Given the description of an element on the screen output the (x, y) to click on. 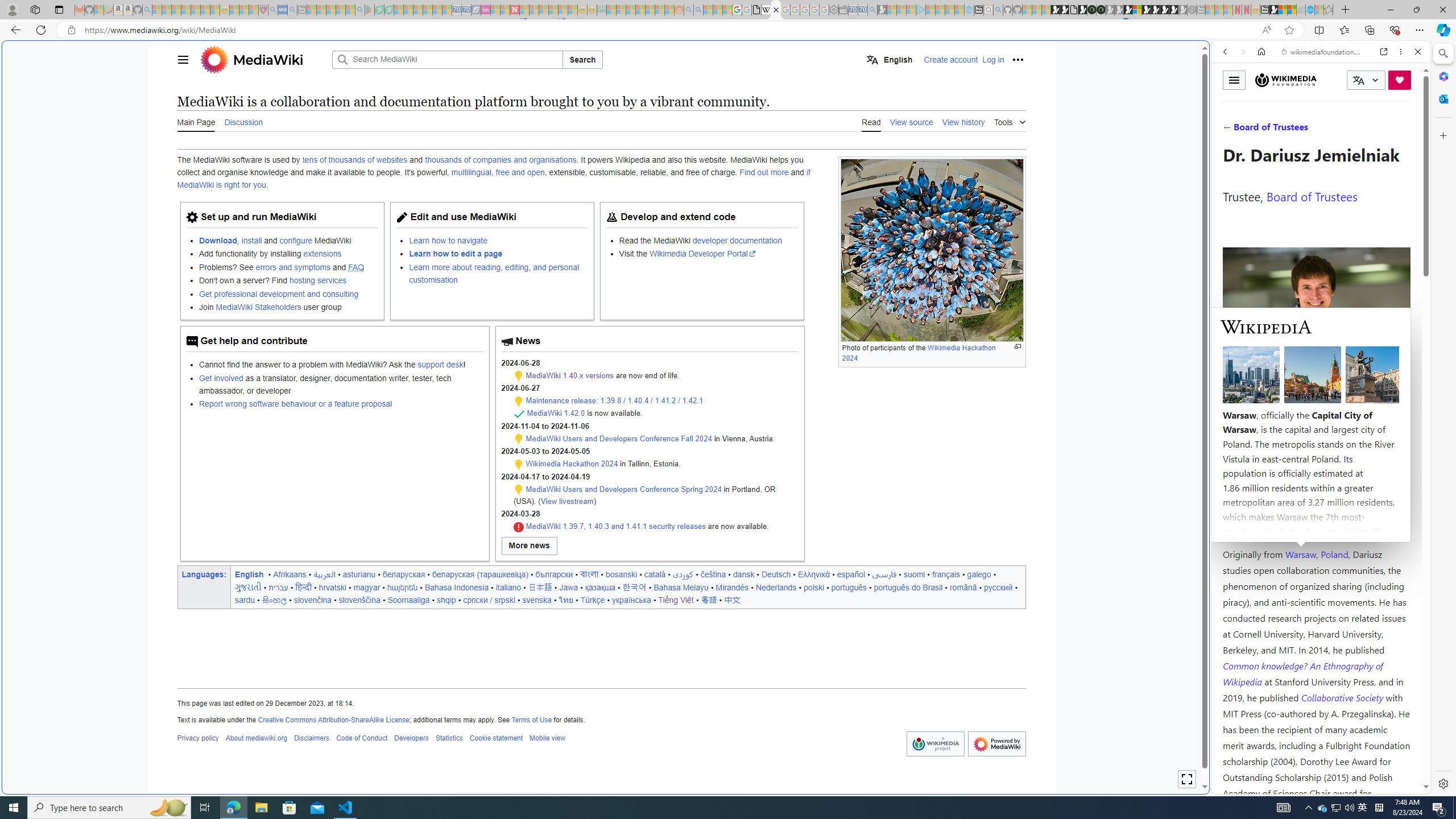
Cookie statement (495, 738)
Settings - Sleeping (833, 9)
MSN (1272, 9)
Bing Real Estate - Home sales and rental listings - Sleeping (872, 9)
Search Filter, WEB (1230, 129)
Developers (411, 738)
View history (963, 121)
Side bar (1443, 418)
Don't own a server? Find hosting services (288, 280)
